Given the description of an element on the screen output the (x, y) to click on. 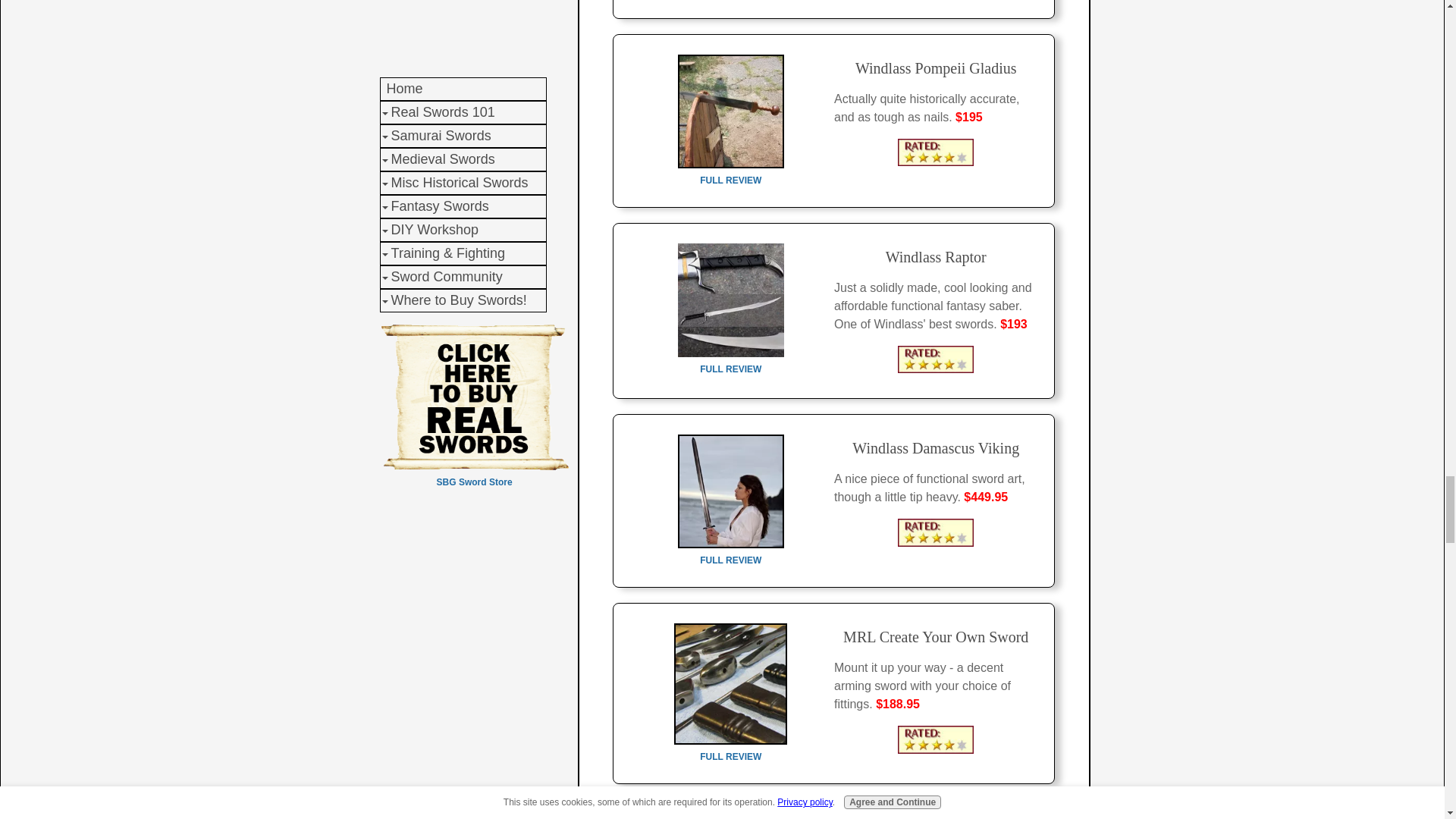
Go to Windlass Pompeii Gladius Review (730, 172)
Go to Windlass Damascus Steel Viking Sword Review (730, 552)
Go to Windlass Raptor Review (730, 360)
Go to MRL Create Your Own Sword Review (730, 748)
